Given the description of an element on the screen output the (x, y) to click on. 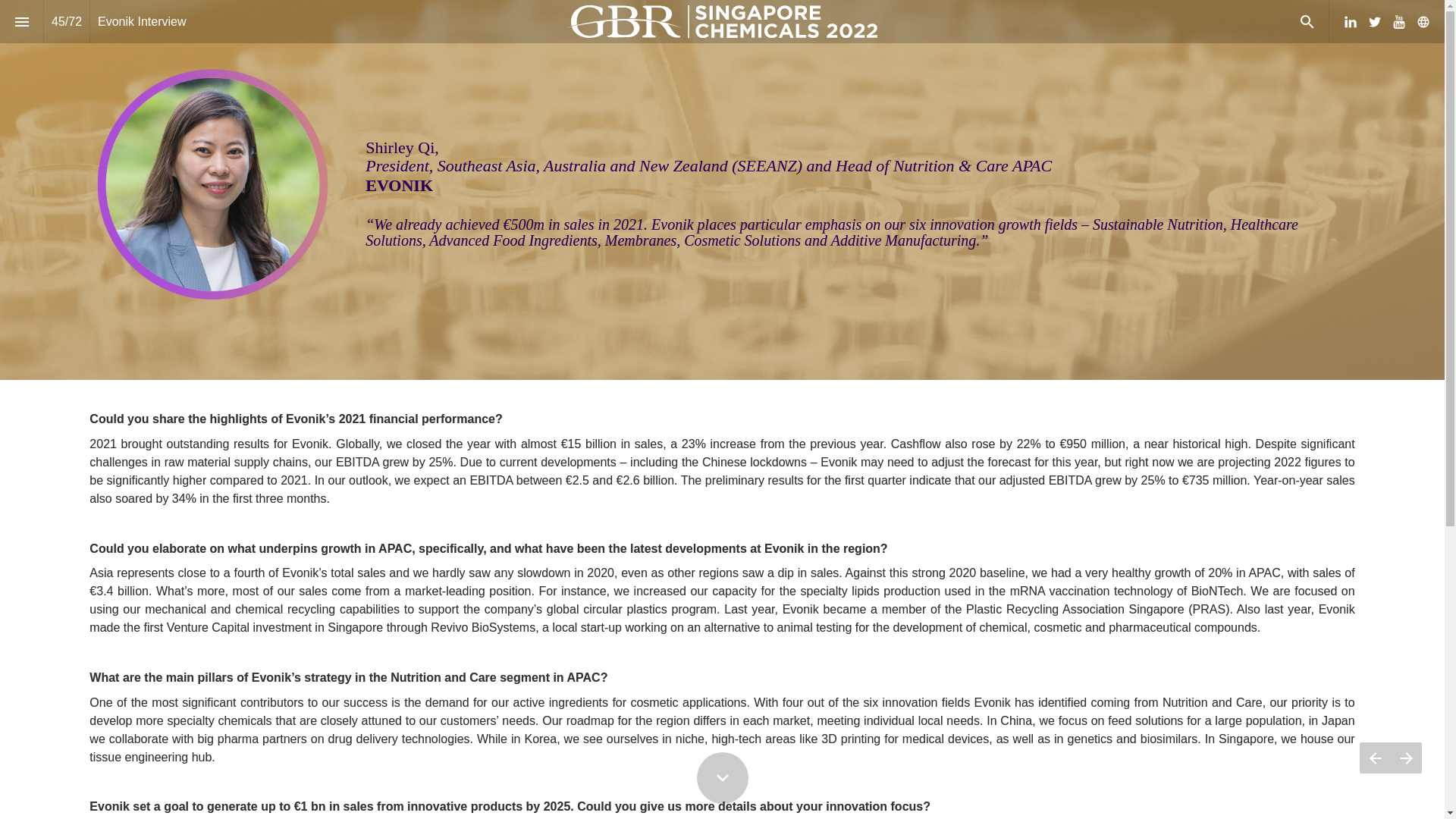
LinkedIn (1350, 20)
Youtube (1399, 20)
Twitter (1375, 20)
